Given the description of an element on the screen output the (x, y) to click on. 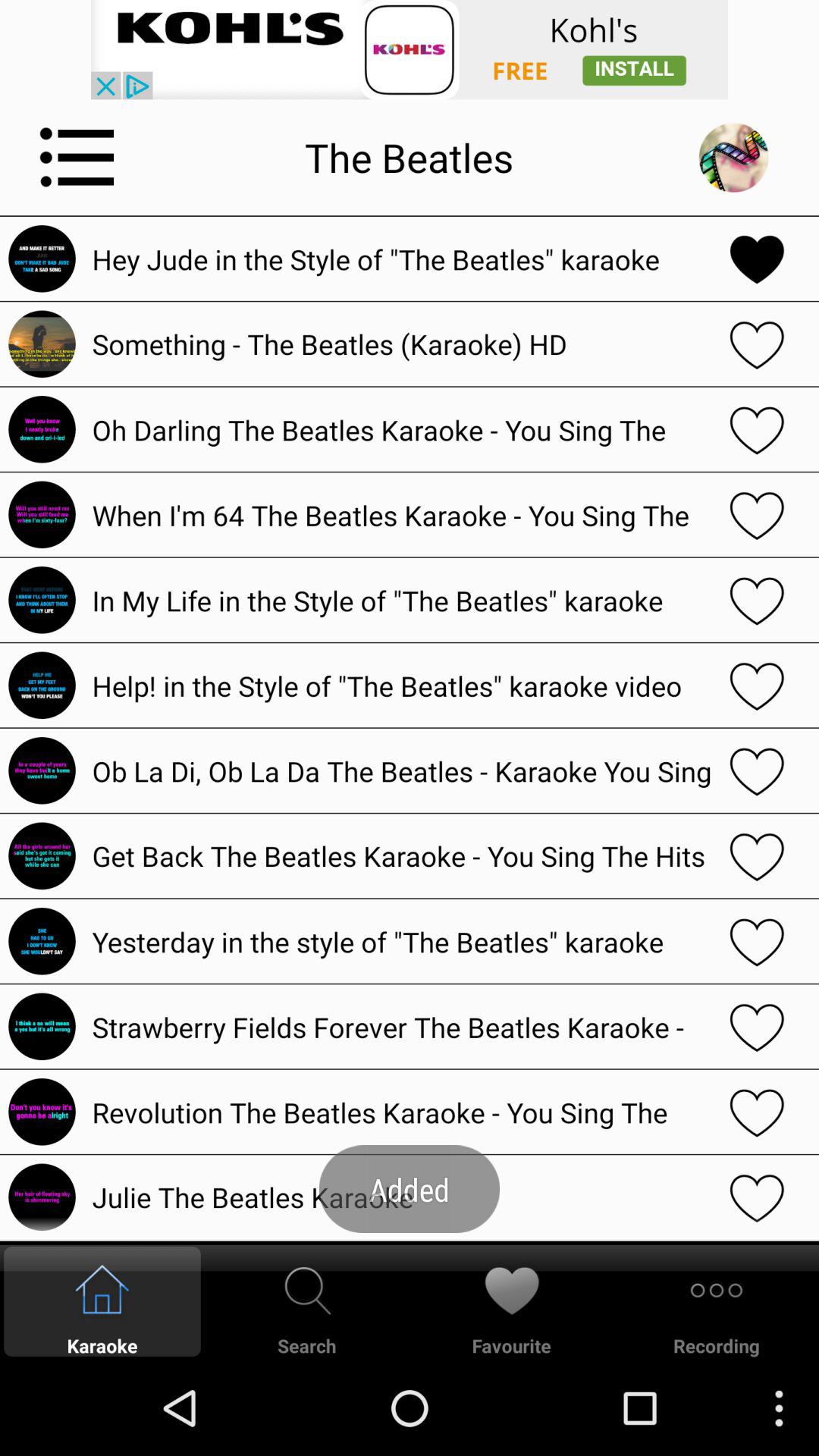
add to favourite (756, 258)
